Given the description of an element on the screen output the (x, y) to click on. 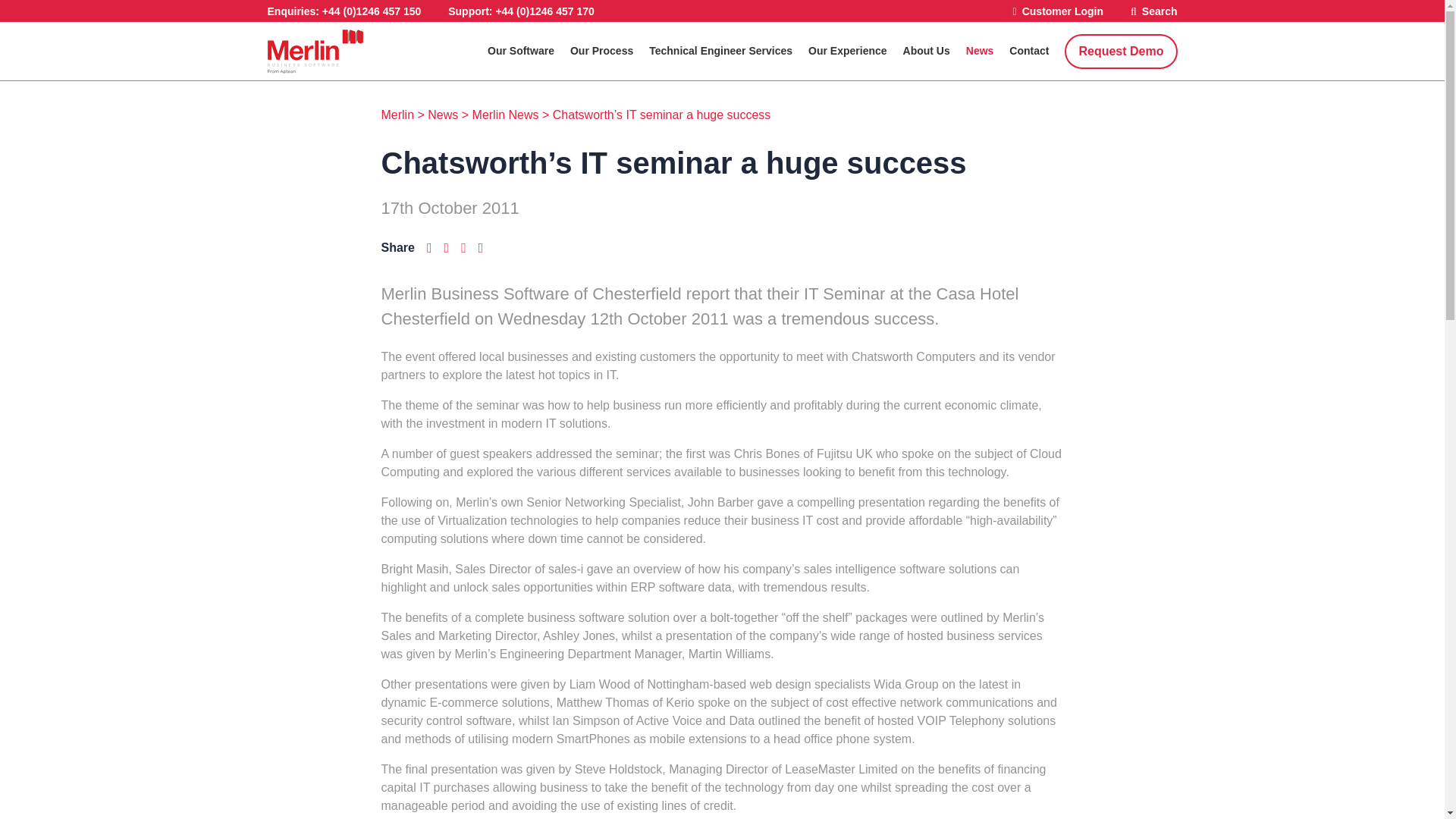
Our Process (609, 51)
Technical Engineer Services (728, 51)
Customer Login (1058, 10)
Our Software (528, 51)
Search (1154, 10)
